Given the description of an element on the screen output the (x, y) to click on. 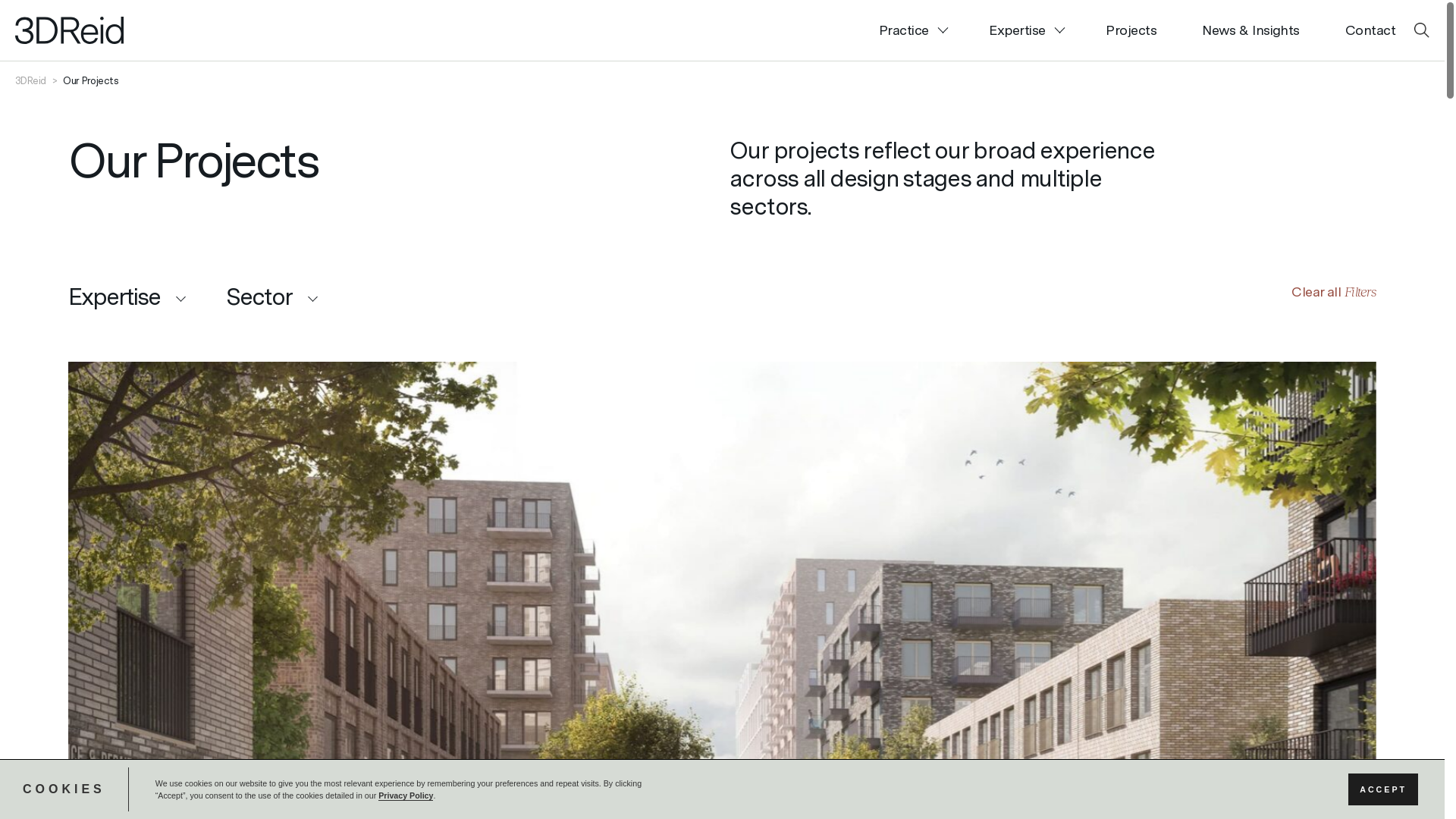
Privacy Policy Element type: text (405, 795)
Contact Element type: text (1364, 29)
3DReid Element type: text (30, 80)
Clear all Filters Element type: text (1333, 291)
Projects Element type: text (1130, 29)
ACCEPT Element type: text (1383, 789)
News & Insights Element type: text (1250, 29)
